Given the description of an element on the screen output the (x, y) to click on. 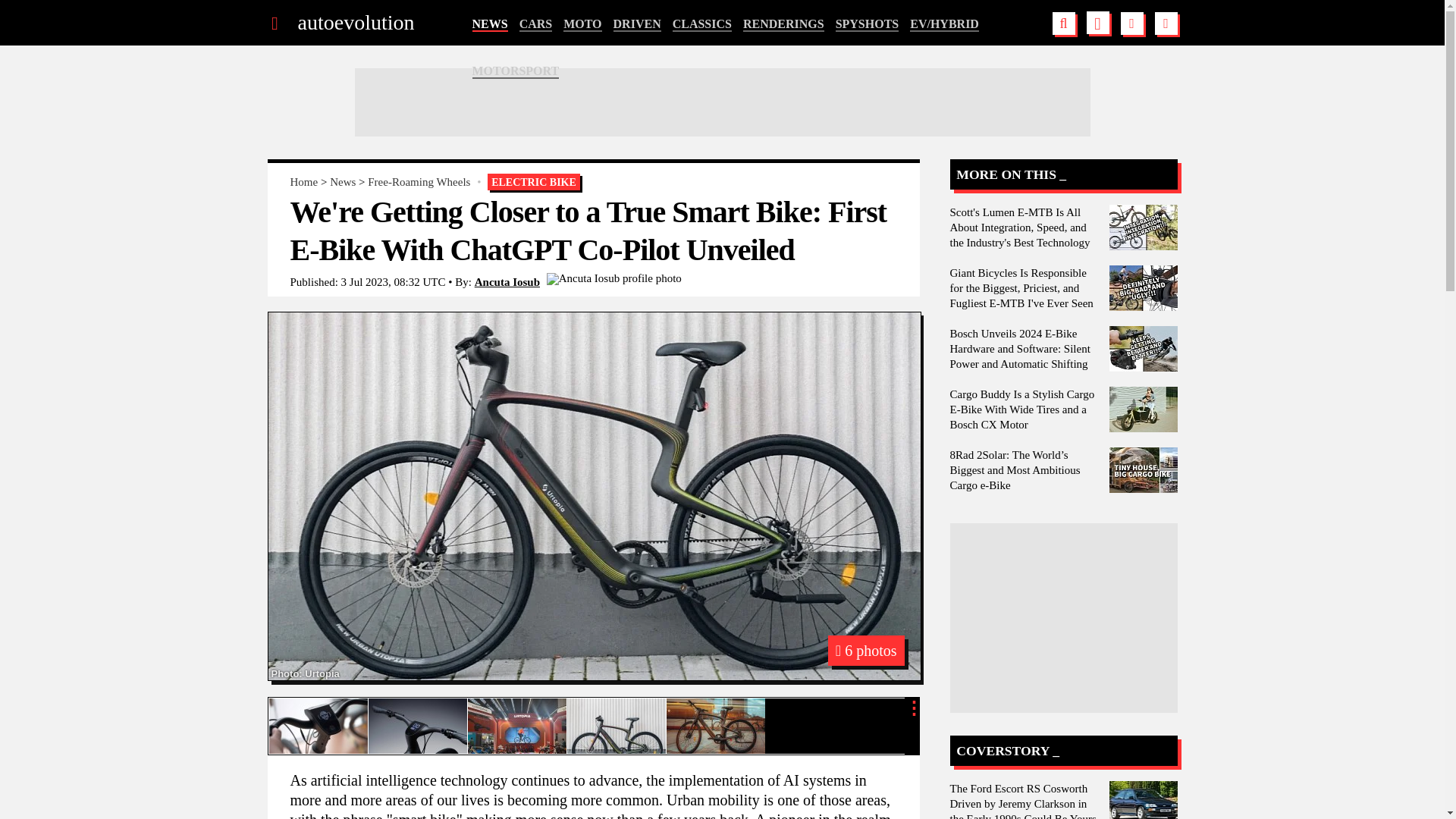
autoevolution (355, 22)
News (342, 182)
Free-Roaming Wheels (419, 182)
DRIVEN (636, 24)
SPYSHOTS (867, 24)
NEWS (488, 24)
CARS (536, 24)
MOTO (582, 24)
CLASSICS (702, 24)
RENDERINGS (783, 24)
Home (303, 182)
autoevolution (355, 22)
MOTORSPORT (515, 71)
